Given the description of an element on the screen output the (x, y) to click on. 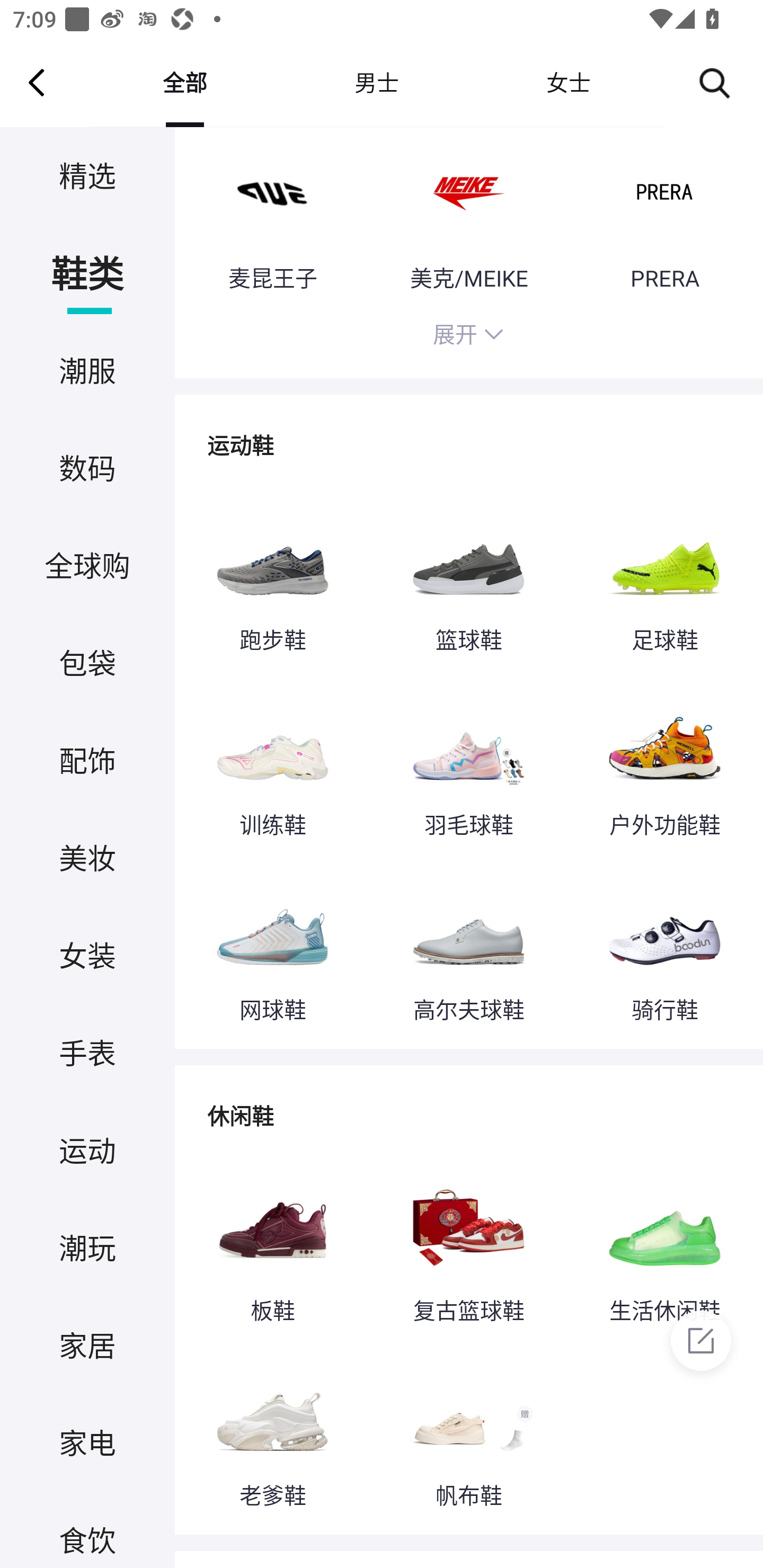
Navigate up (36, 82)
全部 (184, 82)
男士 (376, 82)
女士 (568, 82)
麦昆王子 (272, 217)
美克/MEIKE (468, 217)
PRERA (664, 217)
展开  (468, 337)
跑步鞋 (272, 576)
篮球鞋 (468, 576)
足球鞋 (664, 576)
训练鞋 (272, 761)
羽毛球鞋 (468, 761)
户外功能鞋 (664, 761)
网球鞋 (272, 946)
高尔夫球鞋 (468, 946)
骑行鞋 (664, 946)
板鞋 (272, 1246)
复古篮球鞋 (468, 1246)
生活休闲鞋 (664, 1246)
老爹鞋 (272, 1431)
帆布鞋 (468, 1431)
